Given the description of an element on the screen output the (x, y) to click on. 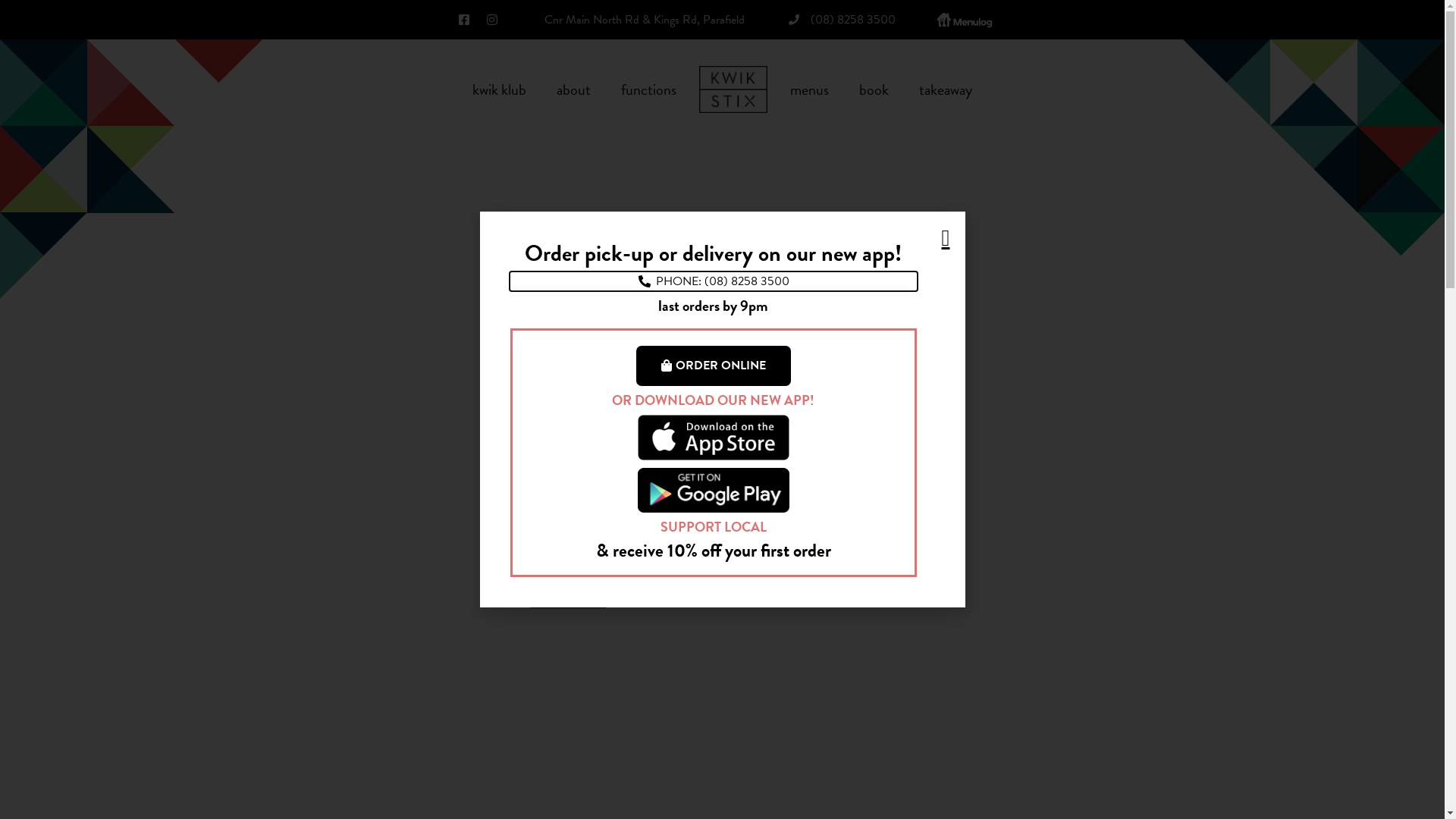
kwik klub Element type: text (499, 89)
PHONE: (08) 8258 3500 Element type: text (712, 281)
ORDER ONLINE Element type: text (712, 365)
SIGN UP! Element type: text (567, 593)
(08) 8258 3500 Element type: text (840, 19)
book Element type: text (873, 89)
takeaway Element type: text (945, 89)
functions Element type: text (648, 89)
about Element type: text (573, 89)
menus Element type: text (809, 89)
